Given the description of an element on the screen output the (x, y) to click on. 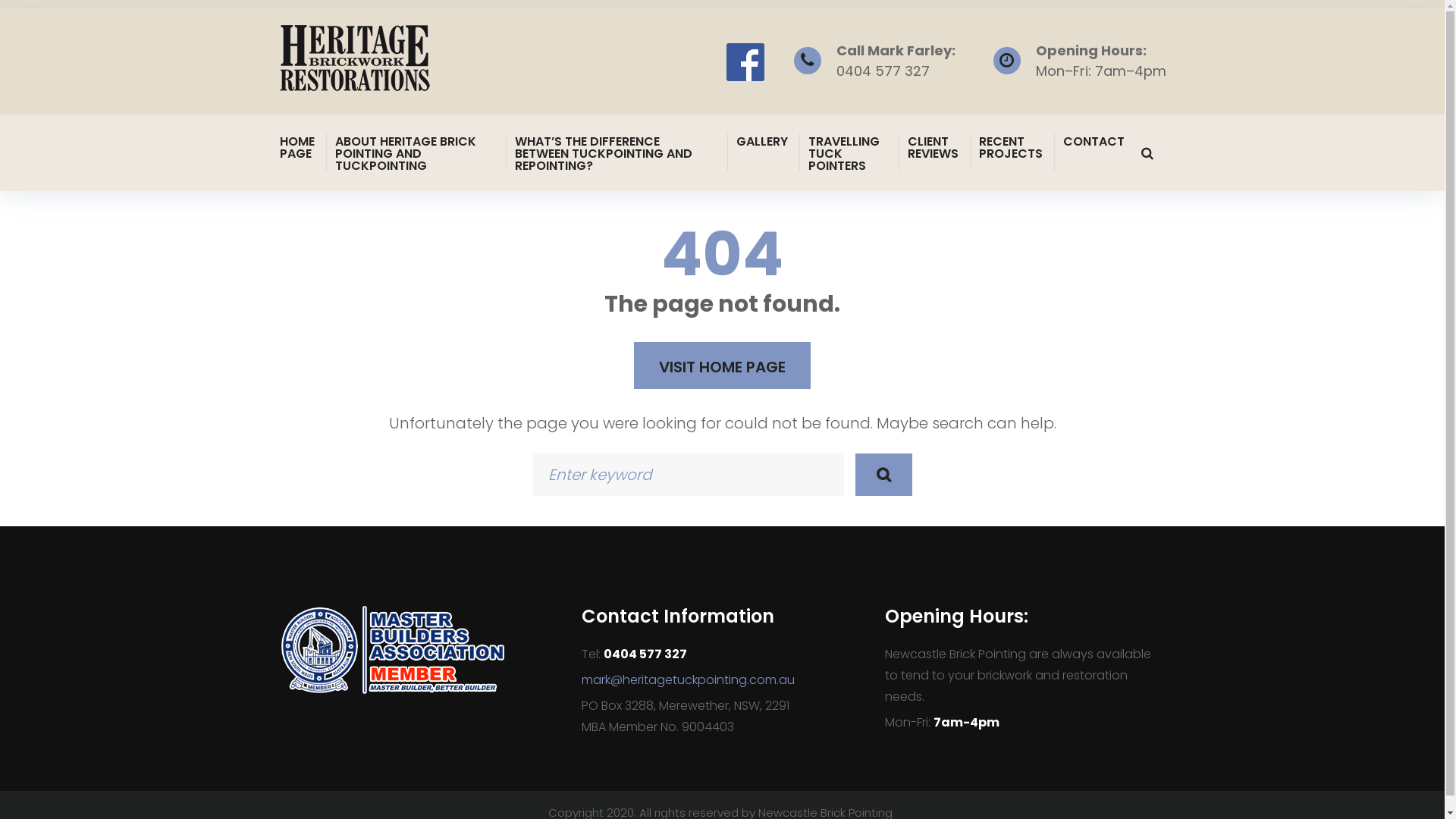
Search for: Element type: hover (687, 474)
CONTACT Element type: text (1095, 140)
CLIENT REVIEWS Element type: text (933, 146)
ABOUT HERITAGE BRICK POINTING AND TUCKPOINTING Element type: text (416, 152)
RECENT PROJECTS Element type: text (1011, 146)
HOME PAGE Element type: text (297, 146)
mark@heritagetuckpointing.com.au Element type: text (687, 679)
VISIT HOME PAGE Element type: text (721, 365)
Skip to content Element type: text (0, 0)
TRAVELLING TUCK POINTERS Element type: text (848, 152)
GALLERY Element type: text (763, 140)
